Given the description of an element on the screen output the (x, y) to click on. 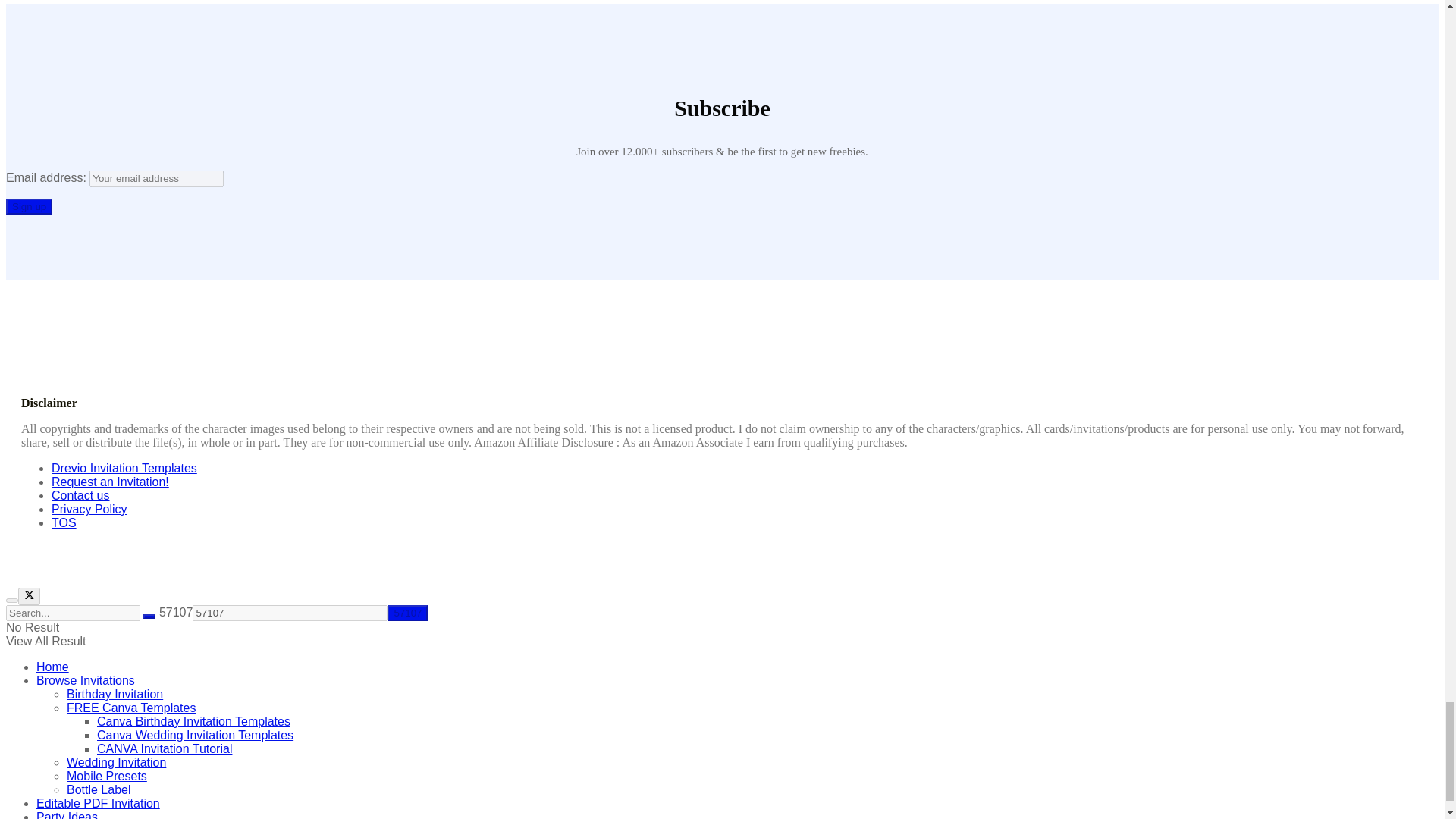
57107 (407, 612)
57107 (407, 612)
57107 (289, 612)
57107 (289, 612)
Sign up (28, 206)
